Given the description of an element on the screen output the (x, y) to click on. 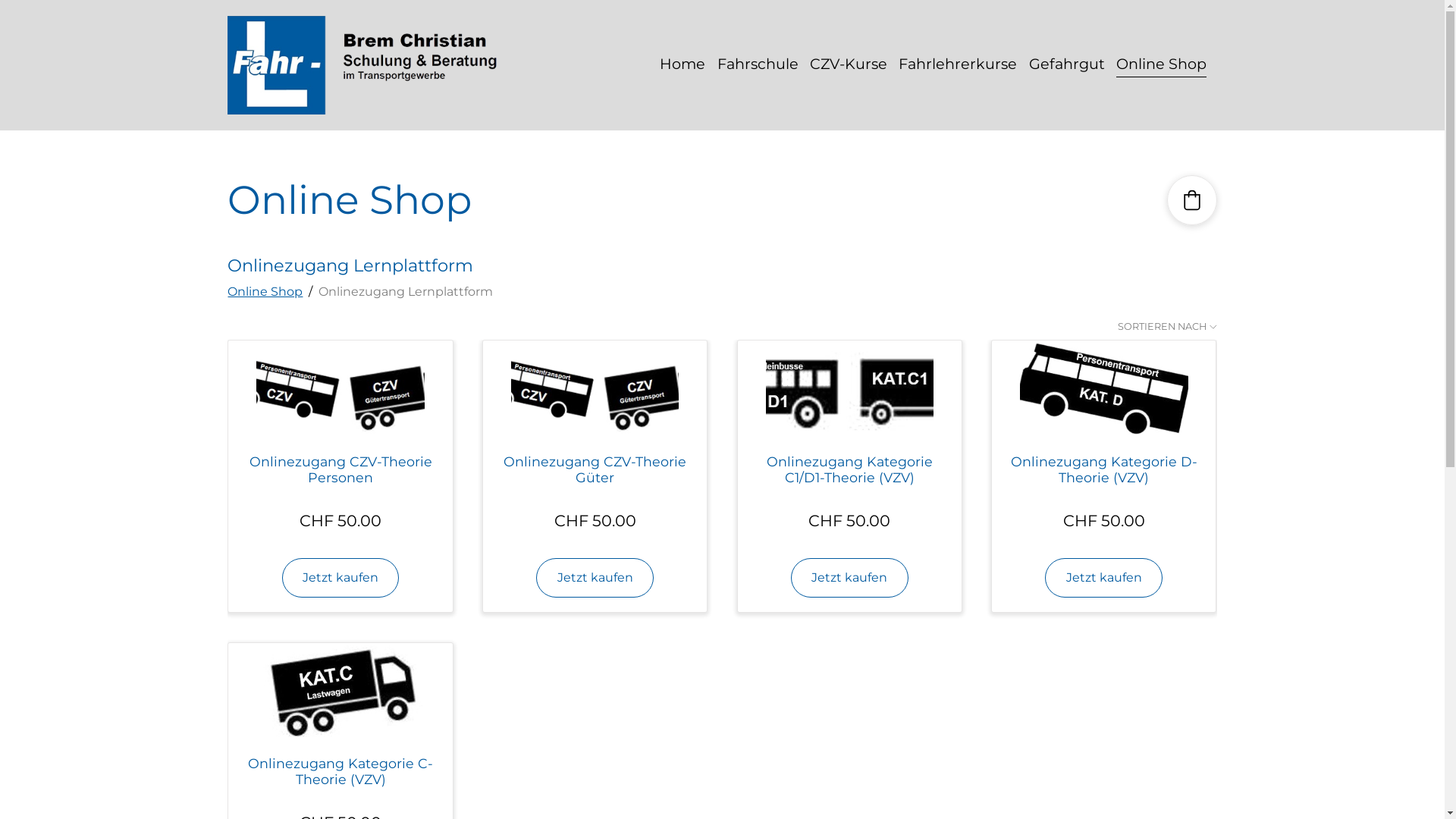
Onlinezugang Kategorie C1/D1-Theorie (VZV) Element type: text (849, 469)
Brem Christian, Schulung & Beratung Element type: hover (370, 64)
Fahrschule Element type: text (757, 64)
Onlinezugang Kategorie C-Theorie (VZV) Element type: text (340, 771)
Fahrlehrerkurse Element type: text (957, 64)
Gefahrgut Element type: text (1066, 64)
Online Shop Element type: text (1161, 65)
Jetzt kaufen Element type: text (340, 578)
Onlinezugang Kategorie D-Theorie (VZV) Element type: text (1103, 469)
CZV-Kurse Element type: text (848, 64)
Jetzt kaufen Element type: text (1103, 578)
Jetzt kaufen Element type: text (849, 578)
Home Element type: text (682, 64)
Online Shop Element type: text (264, 291)
Jetzt kaufen Element type: text (594, 578)
Onlinezugang CZV-Theorie Personen Element type: text (340, 469)
